Given the description of an element on the screen output the (x, y) to click on. 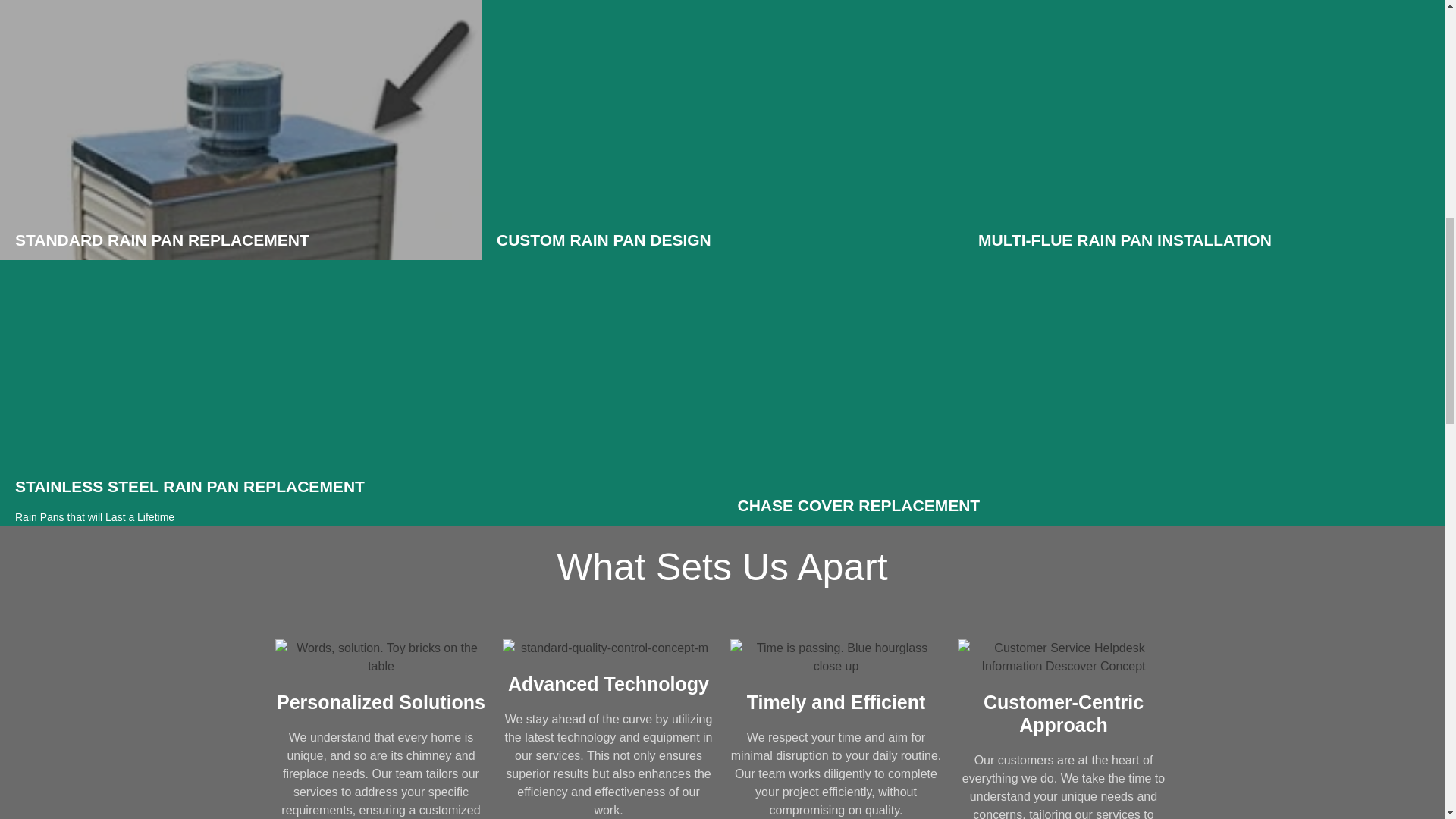
Toy bricks (380, 656)
Time is passing. Blue hourglass close up (835, 656)
standard-quality-control-concept-m (608, 647)
Customer Service Helpdesk Information Descover Concept (1062, 656)
